Given the description of an element on the screen output the (x, y) to click on. 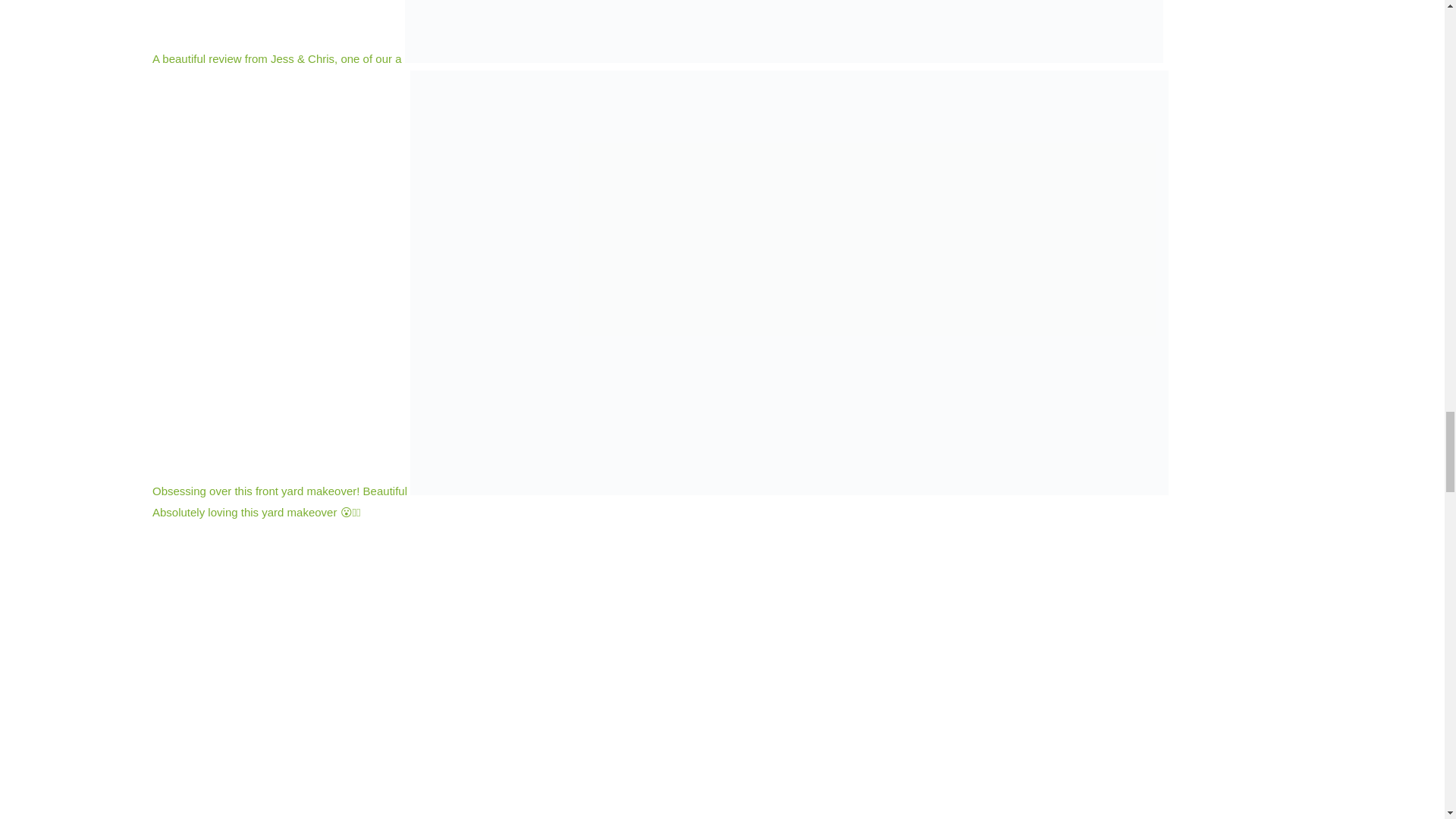
Obsessing over this front yard makeover! Beautiful (660, 490)
